Given the description of an element on the screen output the (x, y) to click on. 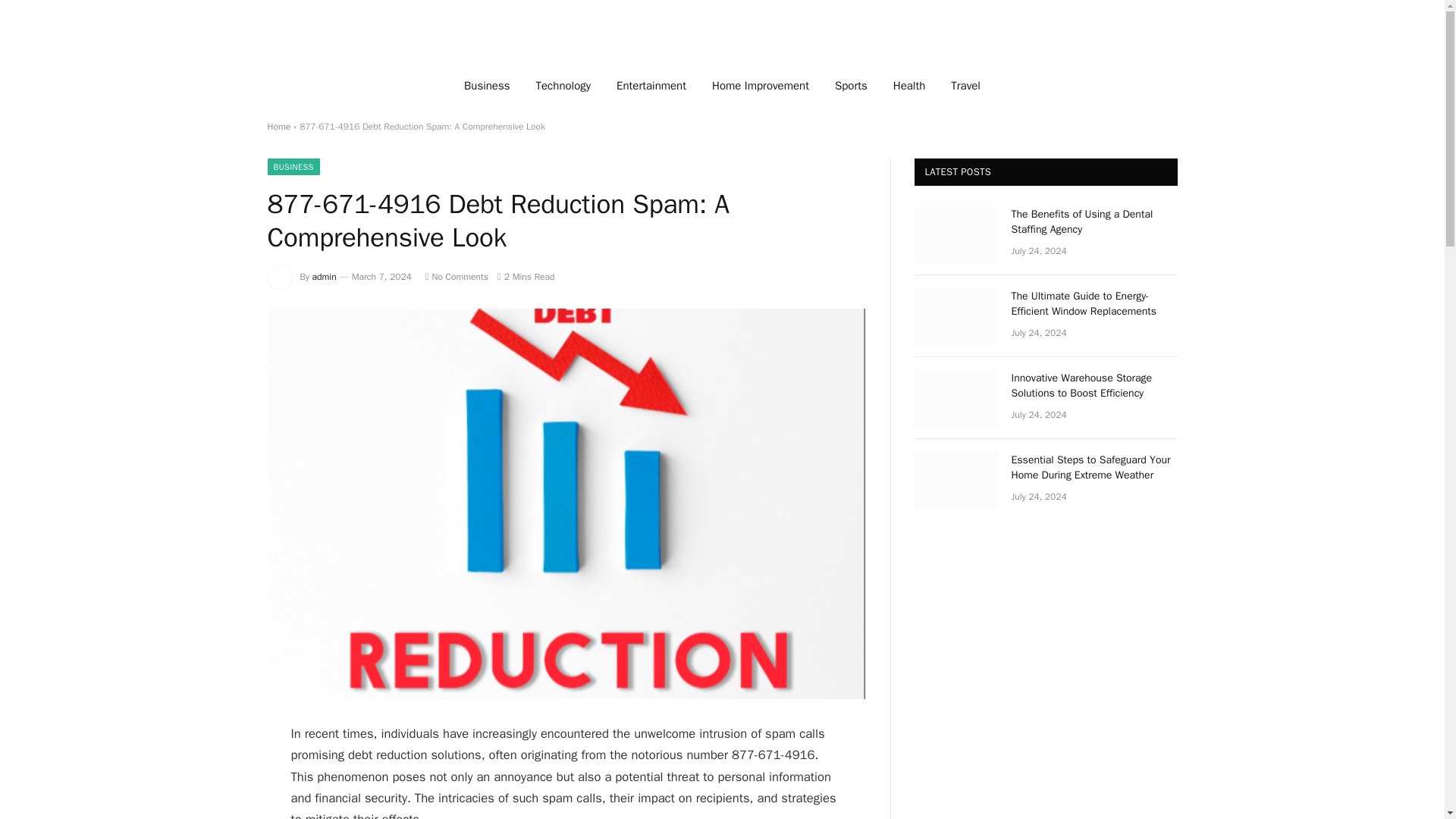
No Comments (456, 276)
Business (486, 85)
Posts by admin (324, 276)
The Benefits of Using a Dental Staffing Agency (1094, 222)
admin (324, 276)
Home (277, 126)
Technology (563, 85)
BUSINESS (292, 166)
The Ultimate Guide to Energy-Efficient Window Replacements (955, 315)
Home Improvement (760, 85)
Innovative Warehouse Storage Solutions to Boost Efficiency (1094, 386)
The Ultimate Guide to Energy-Efficient Window Replacements (1094, 304)
Sports (851, 85)
Entertainment (651, 85)
